Given the description of an element on the screen output the (x, y) to click on. 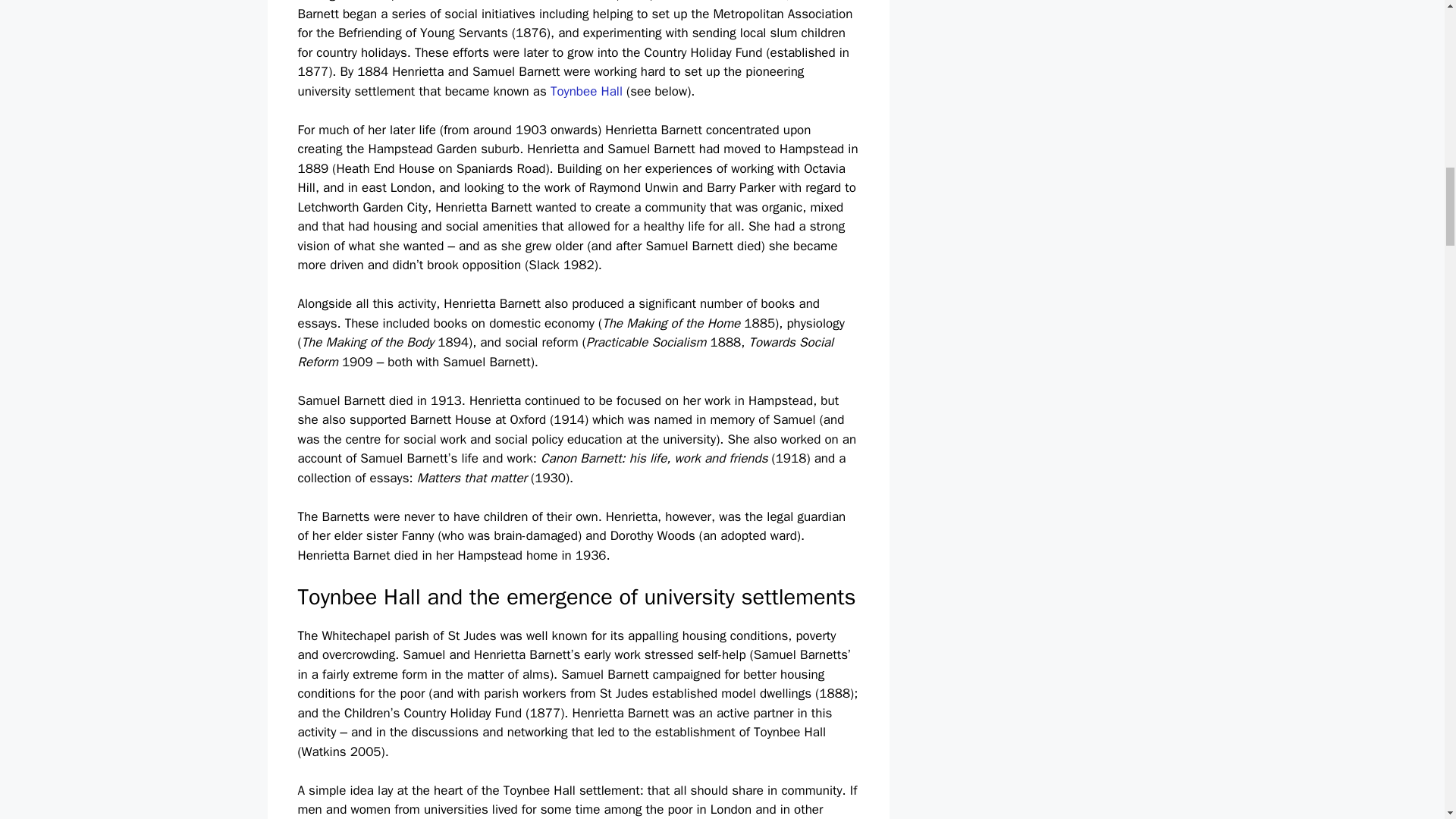
Toynbee Hall (588, 91)
